Given the description of an element on the screen output the (x, y) to click on. 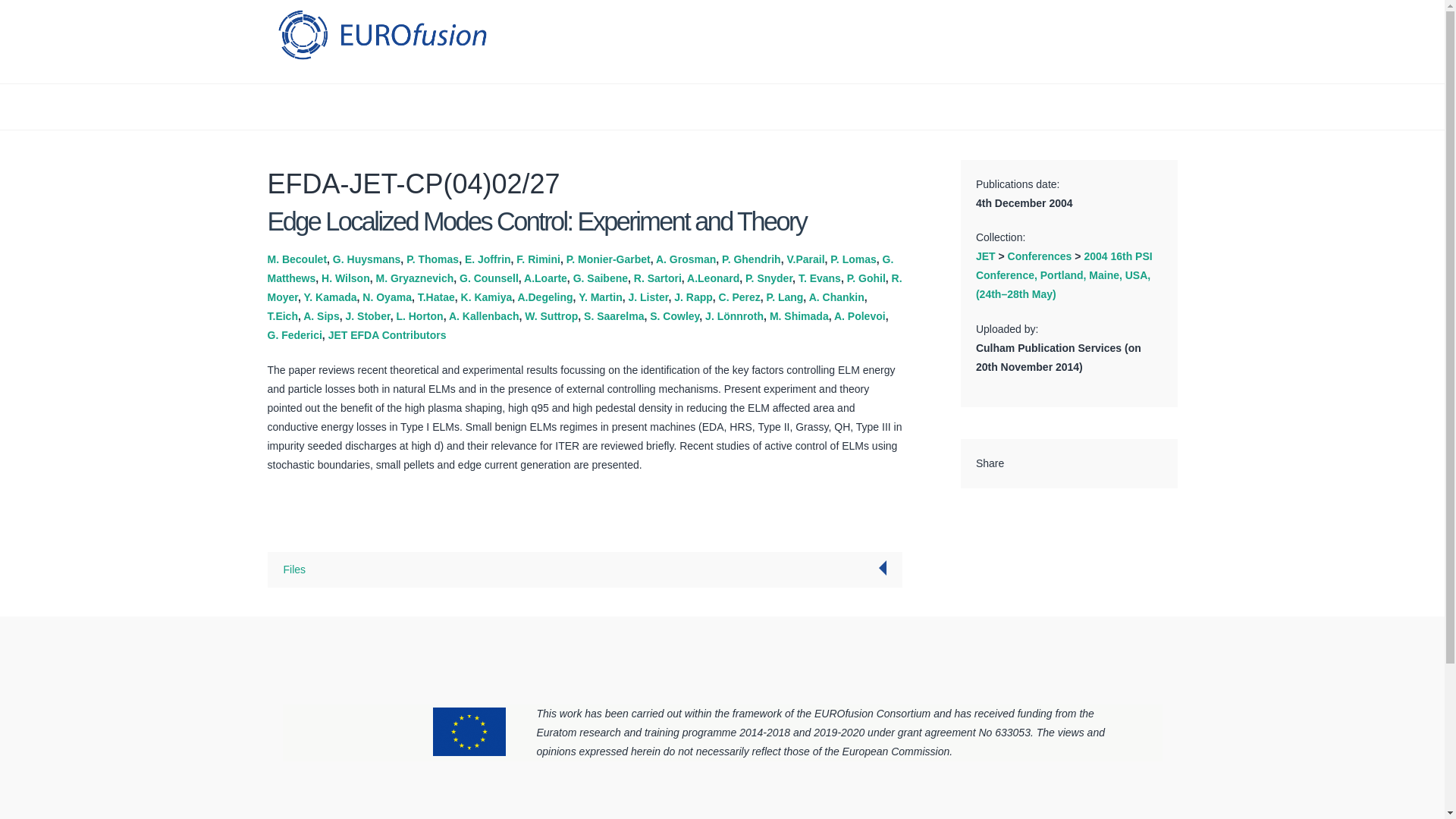
A. Grosman (686, 259)
A.Degeling (544, 297)
G. Saibene (600, 277)
EUROfusion Preprints and Conference Papers service (380, 34)
P. Ghendrih (751, 259)
R. Moyer (583, 287)
P. Snyder (768, 277)
G. Huysmans (366, 259)
F. Rimini (538, 259)
P. Gohil (866, 277)
